Given the description of an element on the screen output the (x, y) to click on. 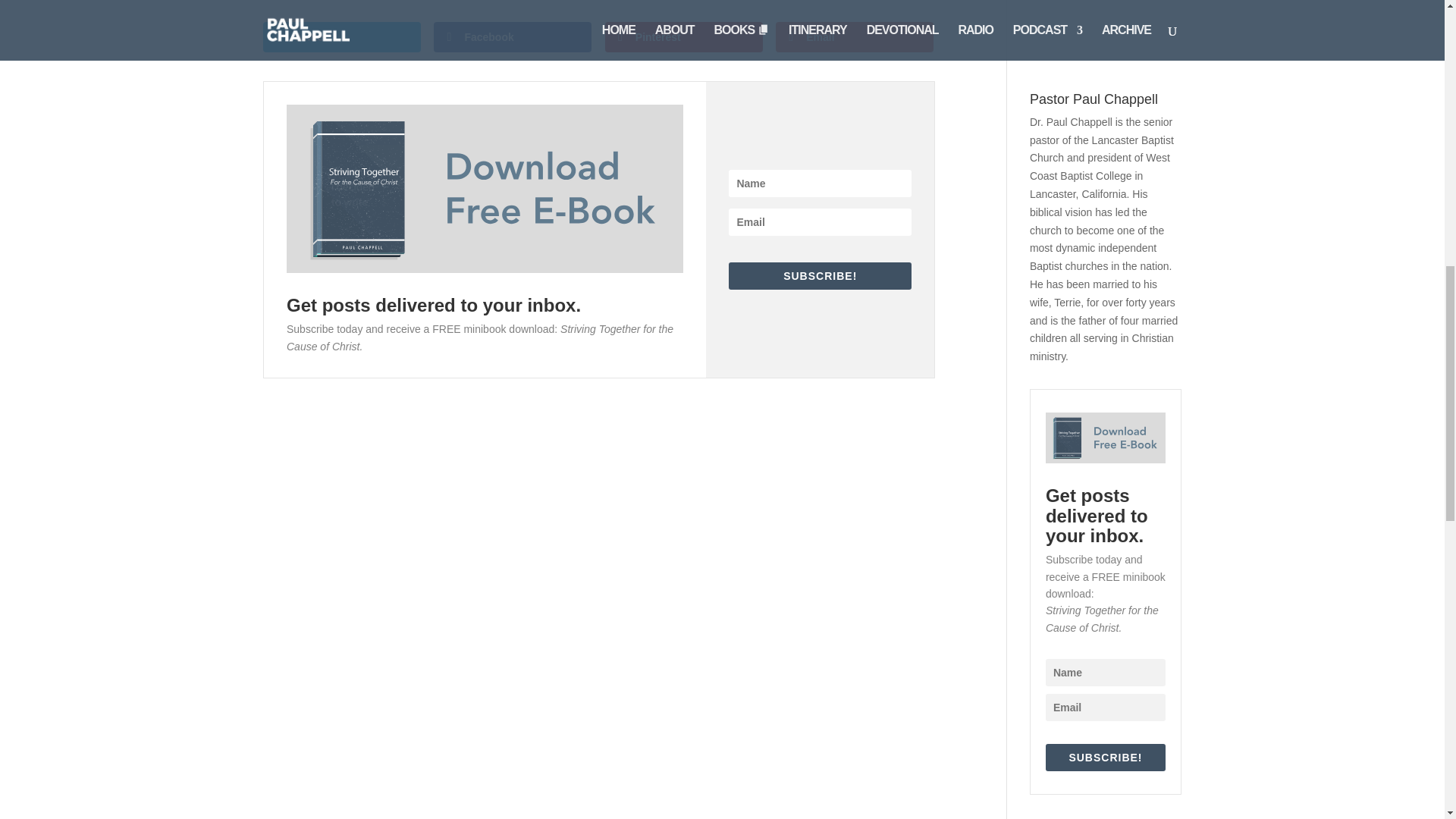
Twitter (341, 37)
Facebook (512, 37)
Pinterest (683, 37)
SUBSCRIBE! (820, 275)
SUBSCRIBE! (1105, 757)
Email (854, 37)
